Given the description of an element on the screen output the (x, y) to click on. 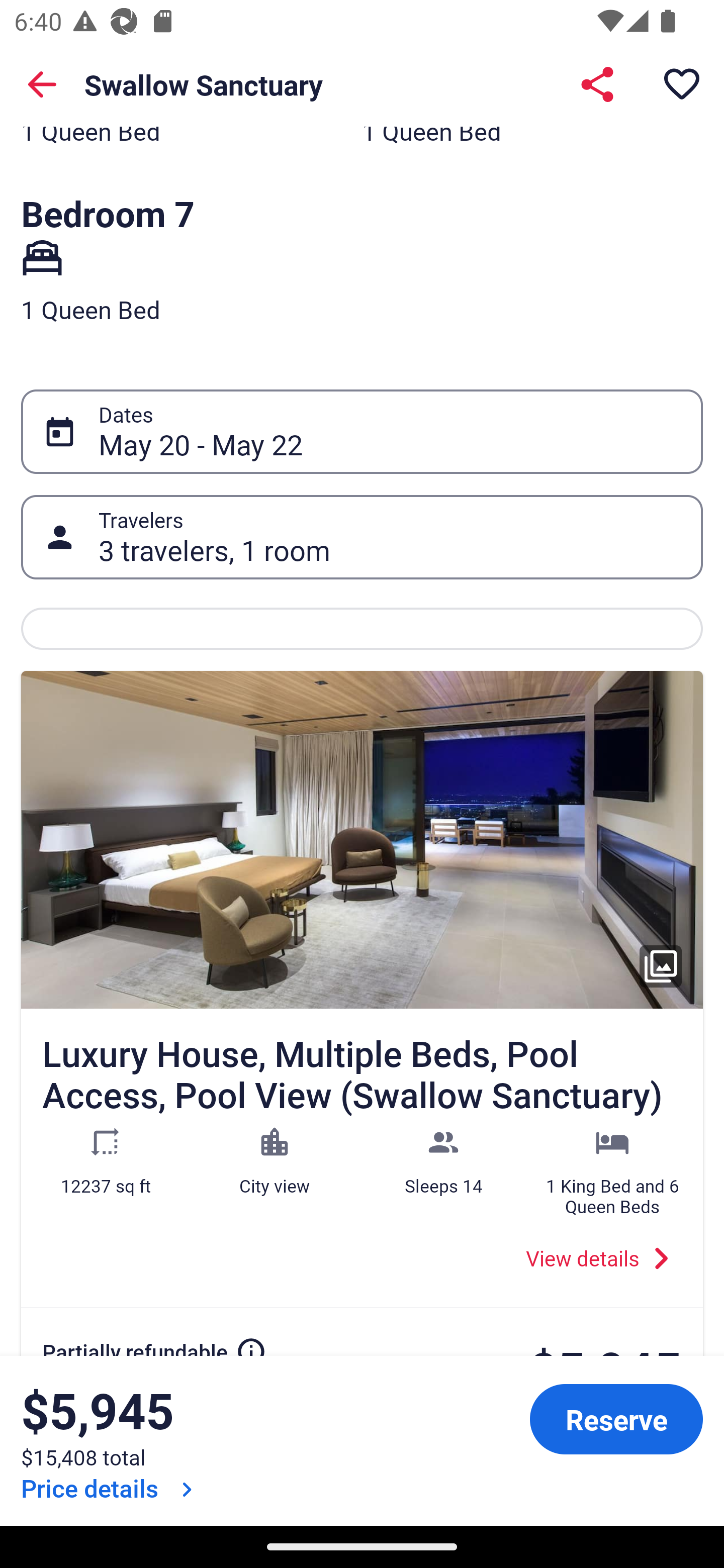
Back (42, 84)
Save property to a trip (681, 84)
Share Swallow Sanctuary (597, 84)
May 20 - May 22 Dates (361, 430)
May 20 - May 22 (390, 431)
3 travelers, 1 room Travelers (361, 537)
3 travelers, 1 room (390, 536)
